Given the description of an element on the screen output the (x, y) to click on. 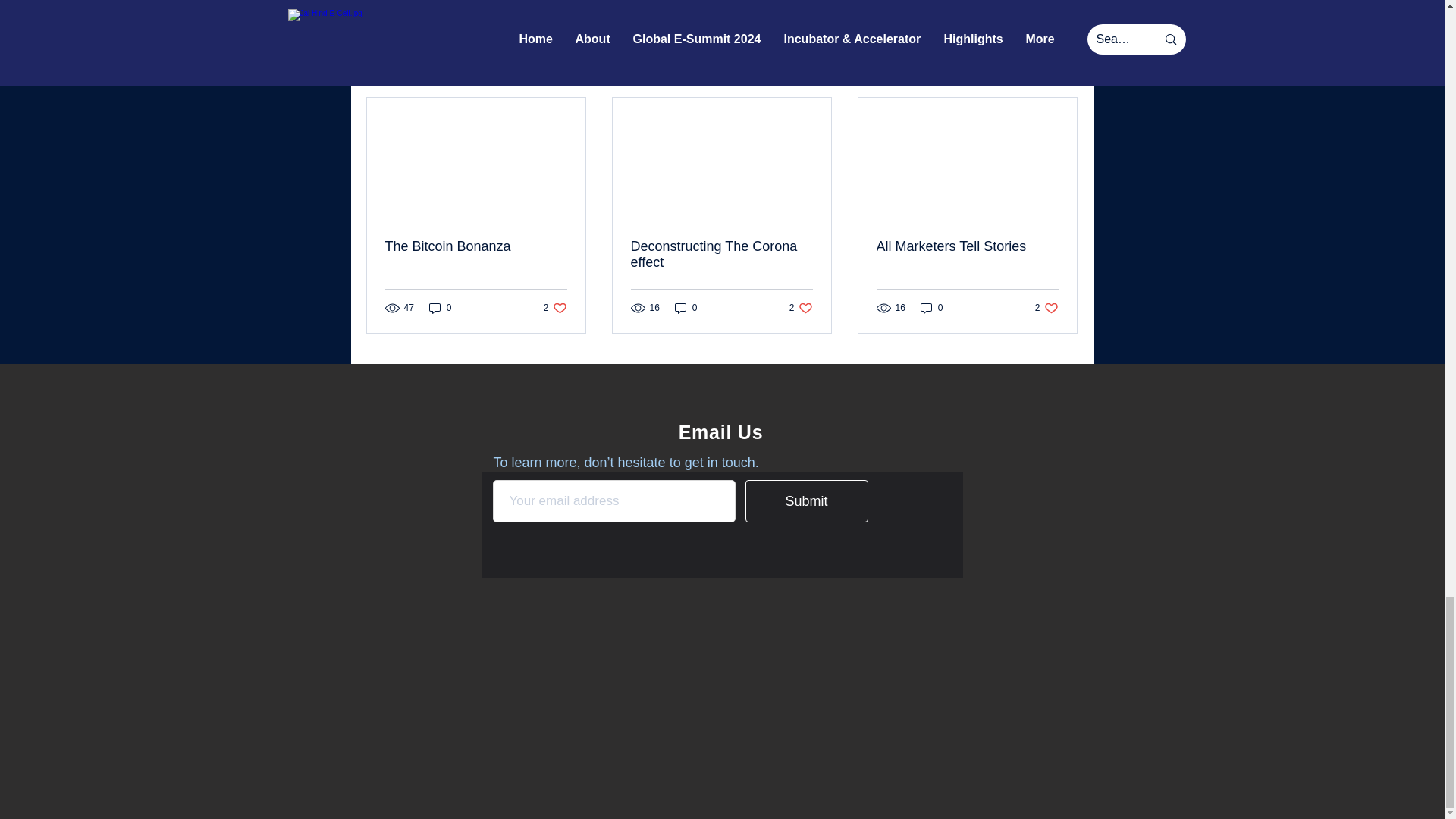
See All (1061, 70)
The Bitcoin Bonanza (476, 246)
